Given the description of an element on the screen output the (x, y) to click on. 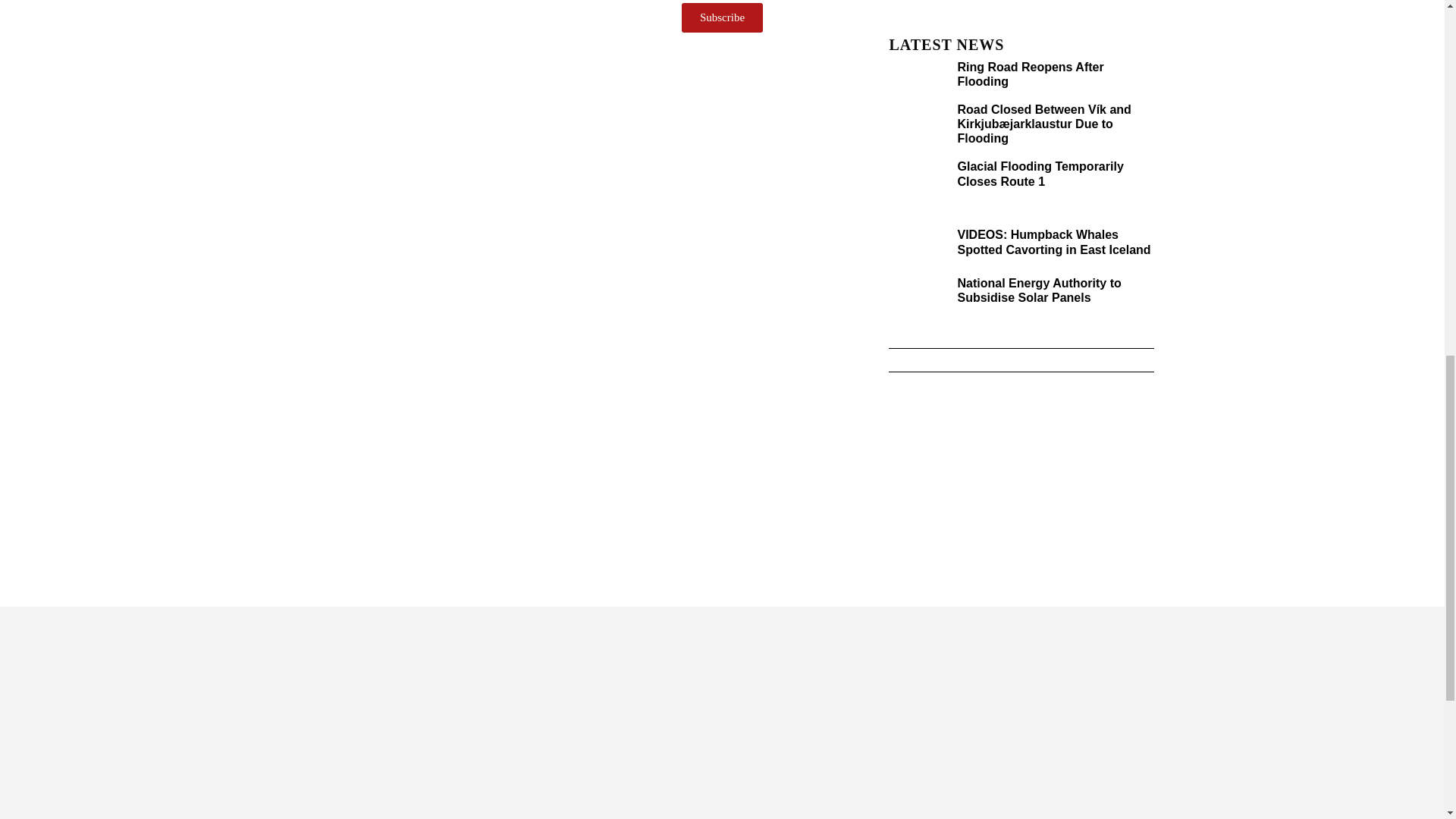
VIDEOS: Humpback Whales Spotted Cavorting in East Iceland (1053, 241)
Glacial Flooding Temporarily Closes Route 1 (1039, 173)
National Energy Authority to Subsidise Solar Panels (1038, 289)
Ring Road Reopens After Flooding (1029, 73)
